Given the description of an element on the screen output the (x, y) to click on. 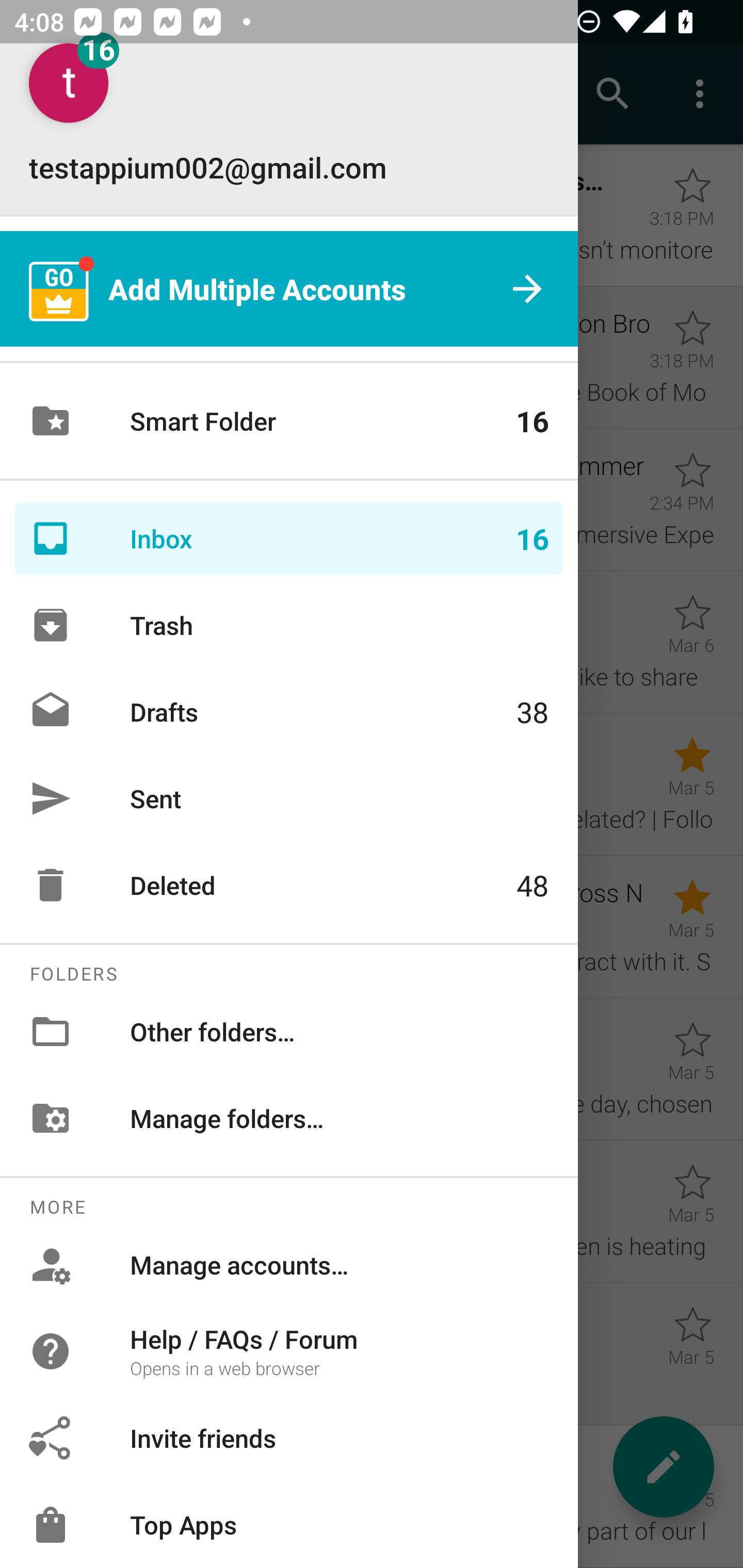
testappium002@gmail.com (289, 114)
Add Multiple Accounts (289, 288)
Smart Folder 16 (289, 420)
Inbox 16 (289, 538)
Trash (289, 624)
Drafts 38 (289, 711)
Sent (289, 798)
Deleted 48 (289, 885)
Other folders… (289, 1031)
Manage folders… (289, 1118)
Manage accounts… (289, 1264)
Help / FAQs / Forum Opens in a web browser (289, 1350)
Invite friends (289, 1437)
Top Apps (289, 1524)
